Given the description of an element on the screen output the (x, y) to click on. 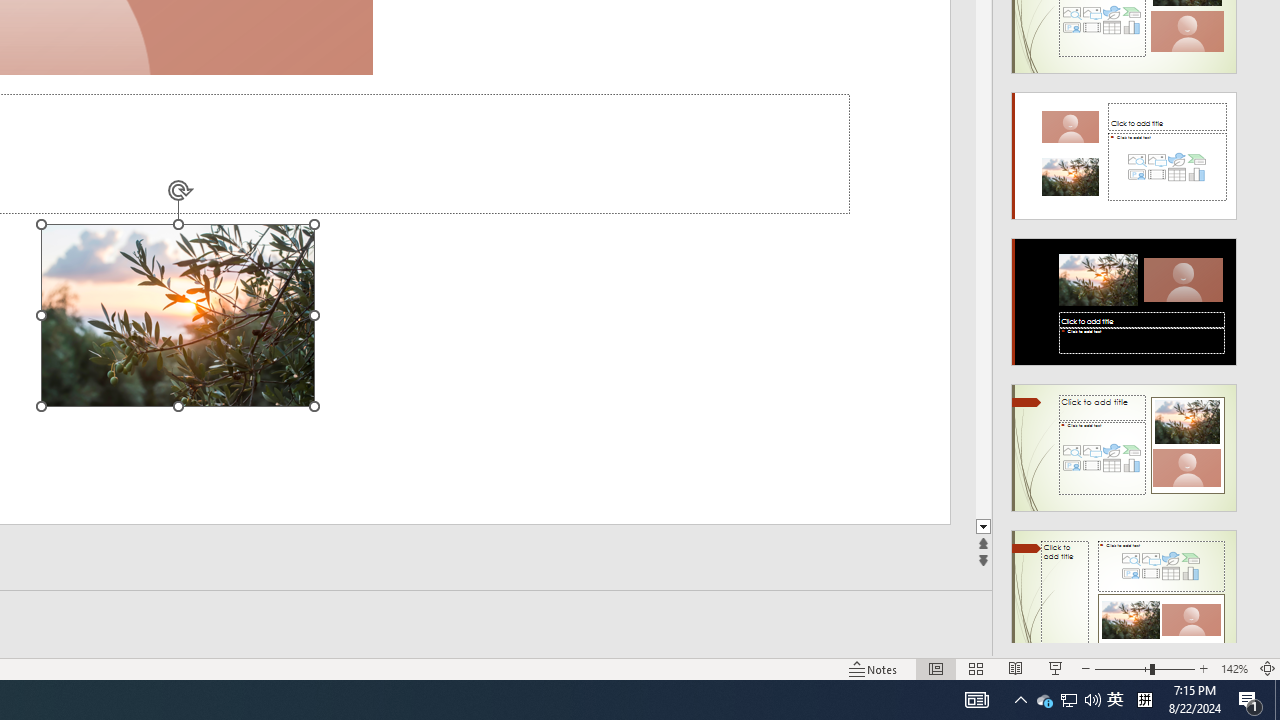
Zoom 142% (1234, 668)
Close up of an olive branch on a sunset (177, 315)
Design Idea (1124, 587)
